Given the description of an element on the screen output the (x, y) to click on. 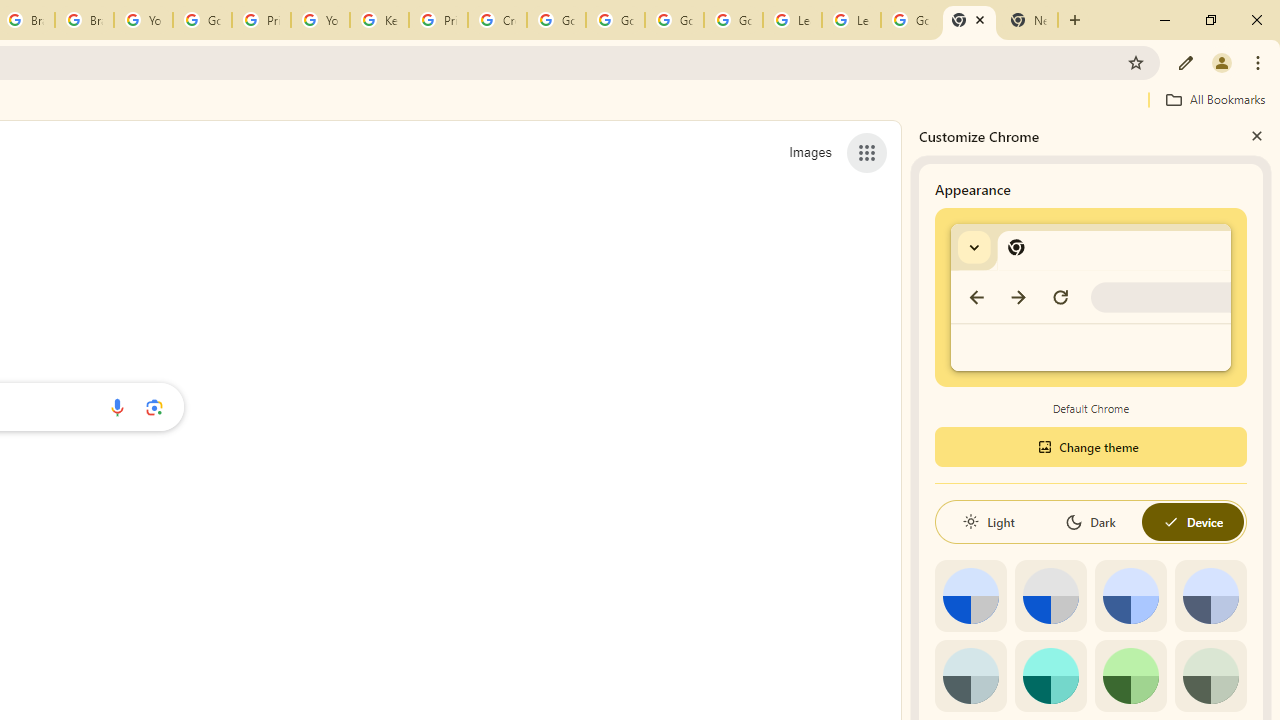
Search by voice (116, 407)
Blue (1130, 596)
Default color (970, 596)
Dark (1090, 521)
New Tab (969, 20)
All Bookmarks (1215, 99)
Green (1130, 676)
Grey (970, 676)
Google Account Help (733, 20)
Device (1192, 521)
Viridian (1210, 676)
Aqua (1050, 676)
